Given the description of an element on the screen output the (x, y) to click on. 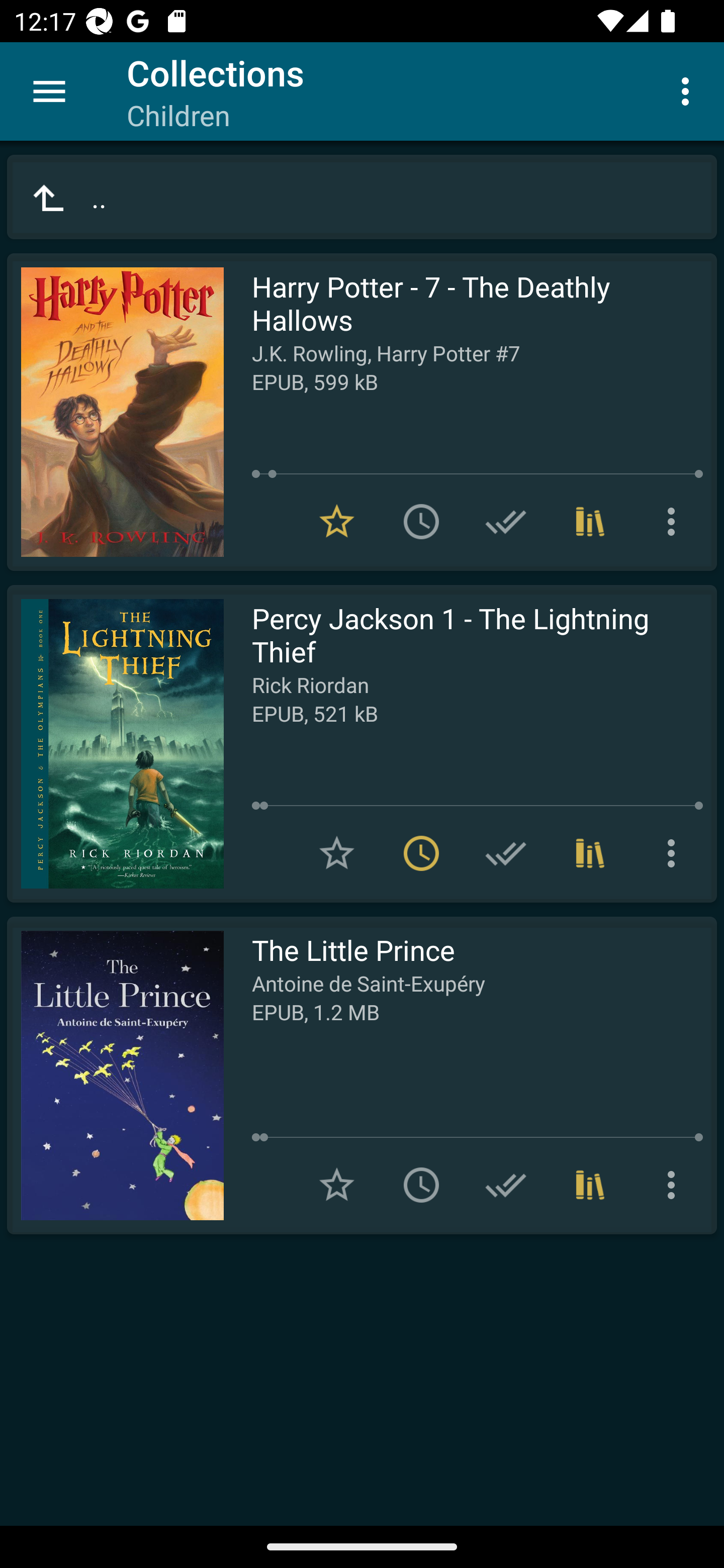
Menu (49, 91)
More options (688, 90)
.. (361, 197)
Read Harry Potter - 7 - The Deathly Hallows (115, 412)
Remove from Favorites (336, 521)
Add to To read (421, 521)
Add to Have read (505, 521)
Collections (1) (590, 521)
More options (674, 521)
Read Percy Jackson 1 - The Lightning Thief (115, 743)
Add to Favorites (336, 852)
Remove from To read (421, 852)
Add to Have read (505, 852)
Collections (1) (590, 852)
More options (674, 852)
Read The Little Prince (115, 1075)
Add to Favorites (336, 1185)
Add to To read (421, 1185)
Add to Have read (505, 1185)
Collections (1) (590, 1185)
More options (674, 1185)
